Given the description of an element on the screen output the (x, y) to click on. 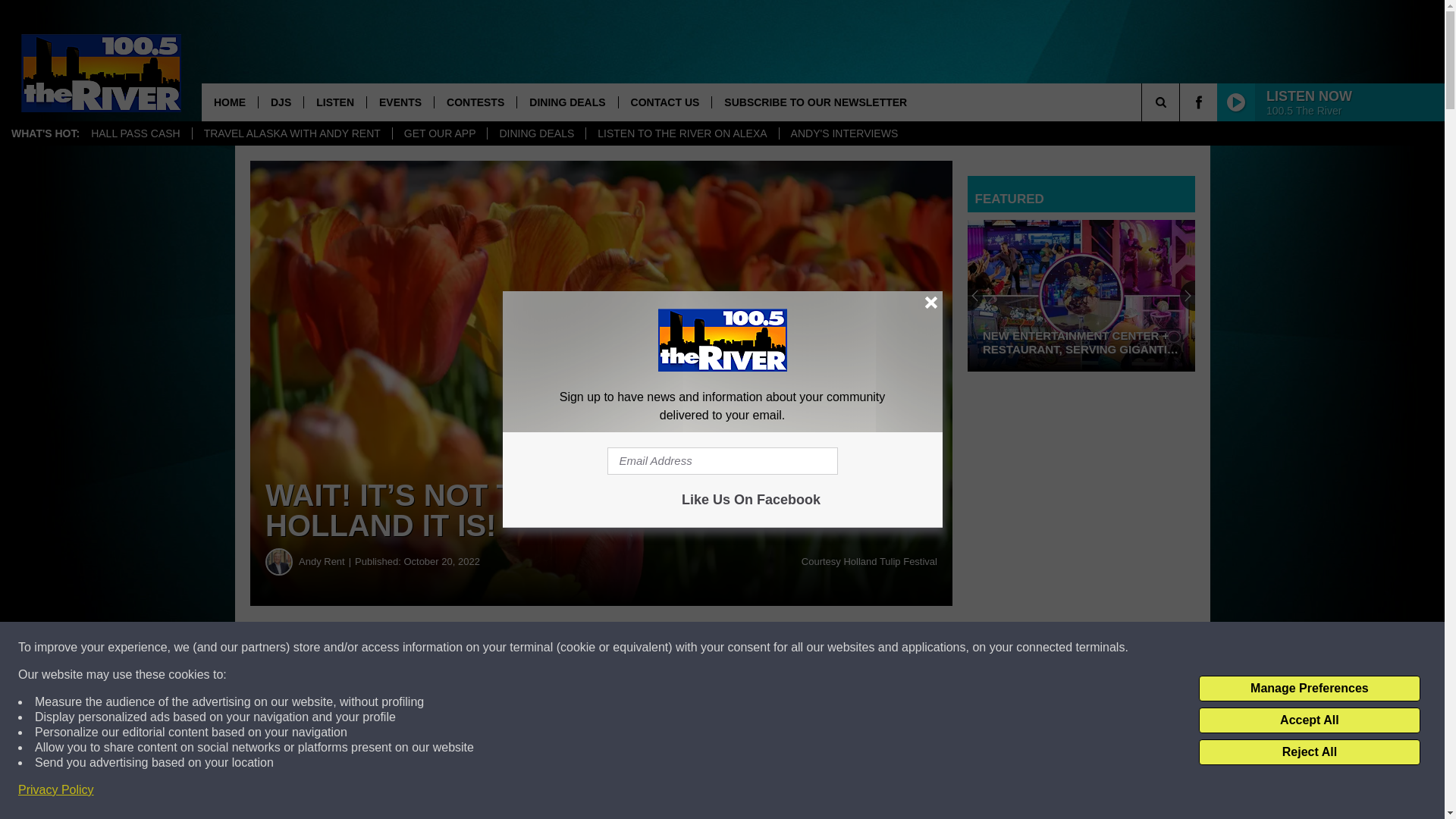
SUBSCRIBE TO OUR NEWSLETTER (814, 102)
CONTESTS (474, 102)
HALL PASS CASH (136, 133)
TRAVEL ALASKA WITH ANDY RENT (291, 133)
LISTEN (334, 102)
Reject All (1309, 751)
SEARCH (1182, 102)
LISTEN TO THE RIVER ON ALEXA (681, 133)
SEARCH (1182, 102)
Share on Twitter (741, 647)
EVENTS (399, 102)
CONTACT US (664, 102)
Email Address (722, 461)
Manage Preferences (1309, 688)
GET OUR APP (439, 133)
